Given the description of an element on the screen output the (x, y) to click on. 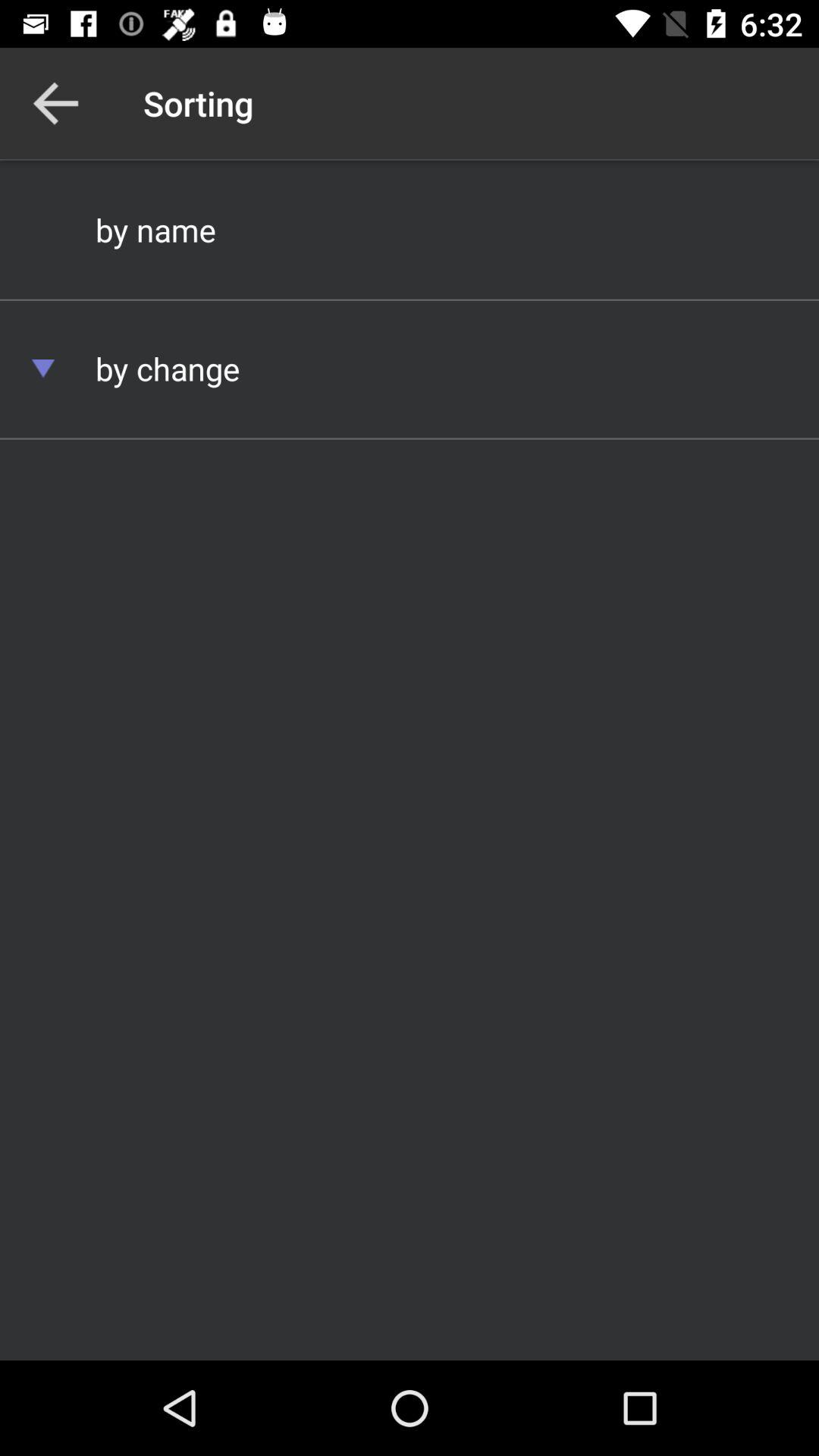
open the app to the left of sorting app (55, 103)
